Given the description of an element on the screen output the (x, y) to click on. 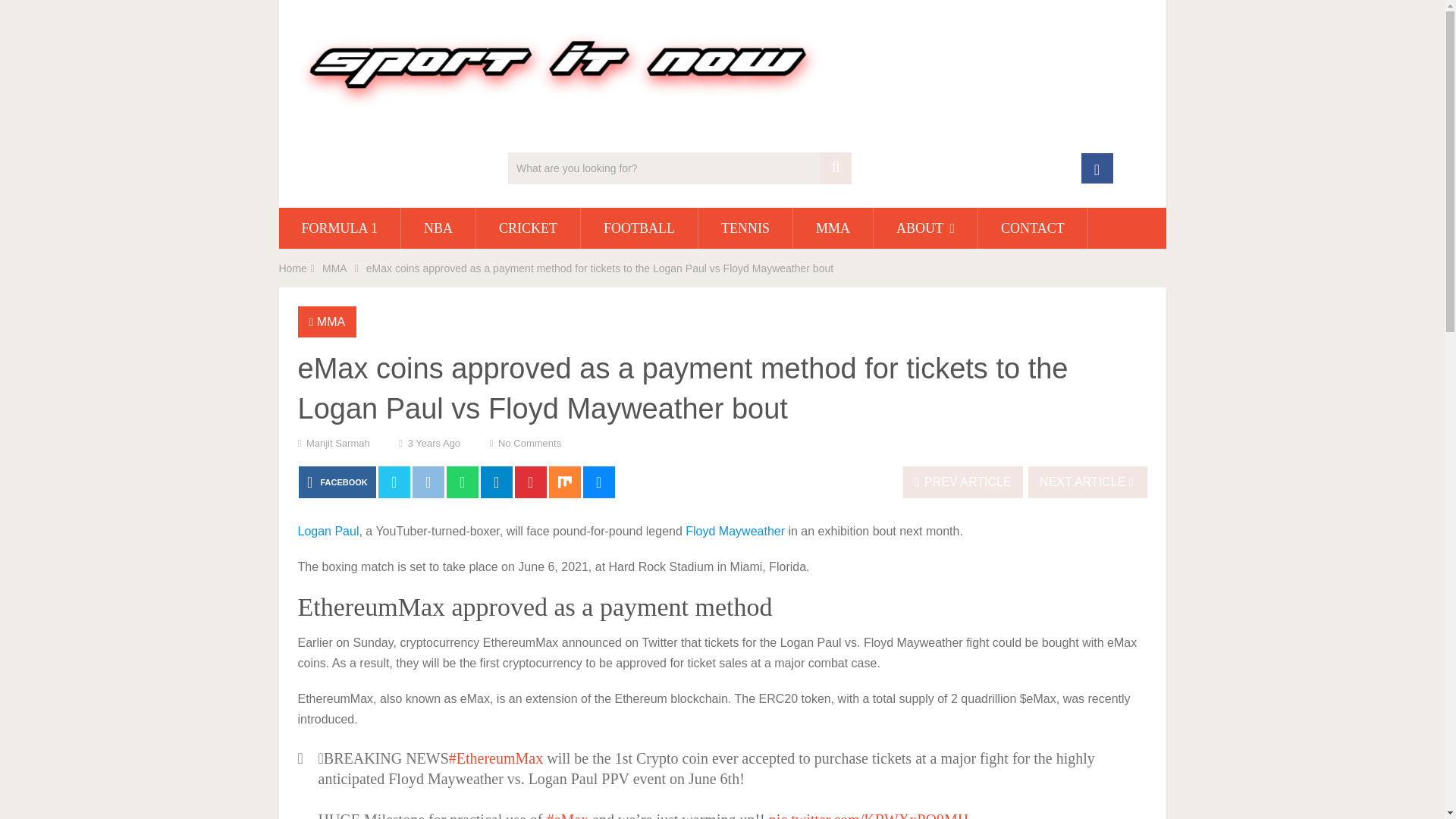
NBA (438, 228)
View all posts in MMA (331, 321)
PREV ARTICLE (962, 481)
Manjit Sarmah (337, 442)
MMA (331, 321)
FORMULA 1 (340, 228)
CRICKET (527, 228)
MMA (832, 228)
FOOTBALL (638, 228)
MMA (334, 268)
